Given the description of an element on the screen output the (x, y) to click on. 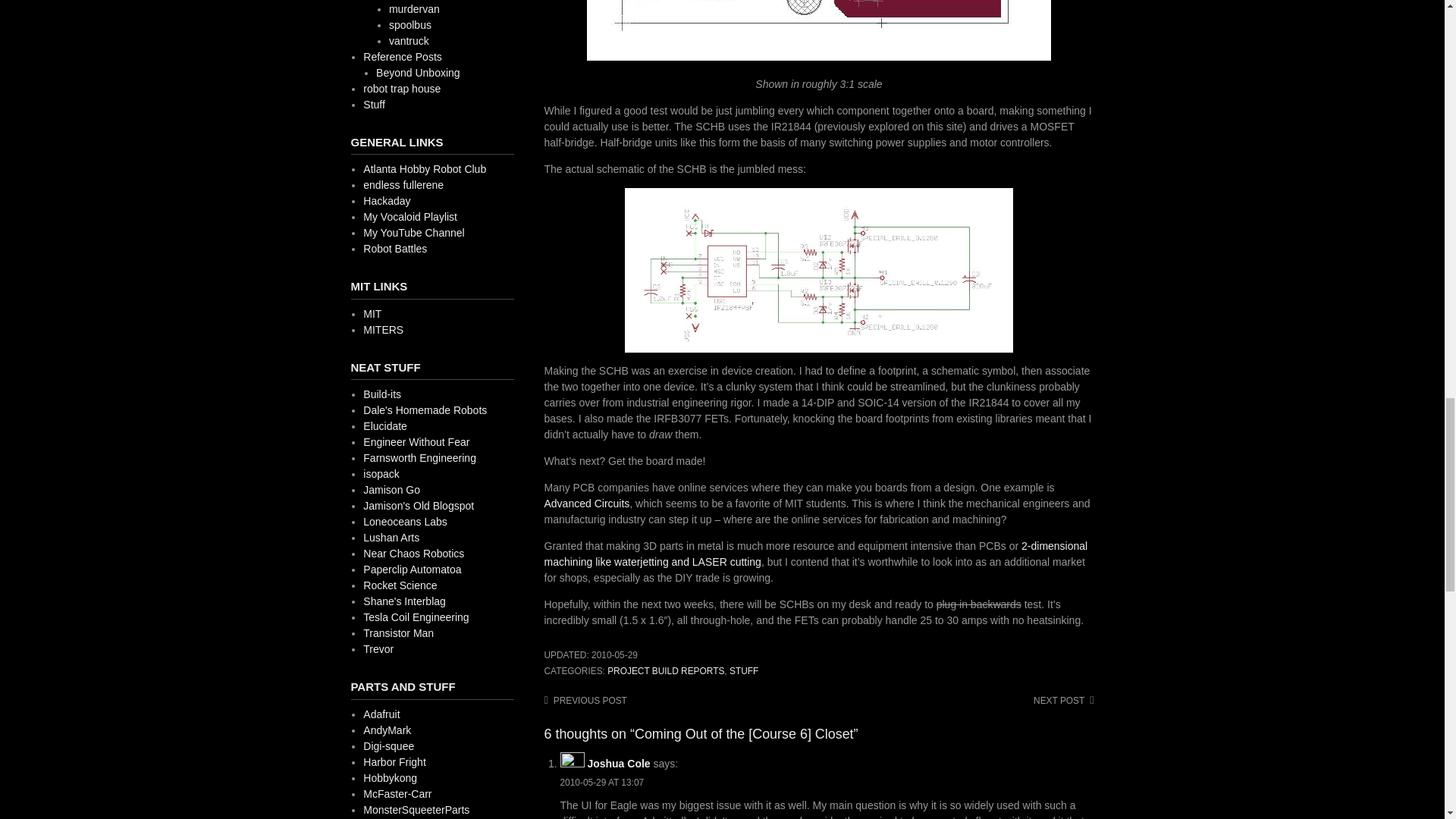
rmli (384, 426)
seeblack (415, 441)
lol miku  (409, 216)
The ph33red one. (424, 410)
Still true to my roots (424, 168)
all sorts of kinky engineering pr0n (413, 232)
Makeable things!! (386, 200)
